Given the description of an element on the screen output the (x, y) to click on. 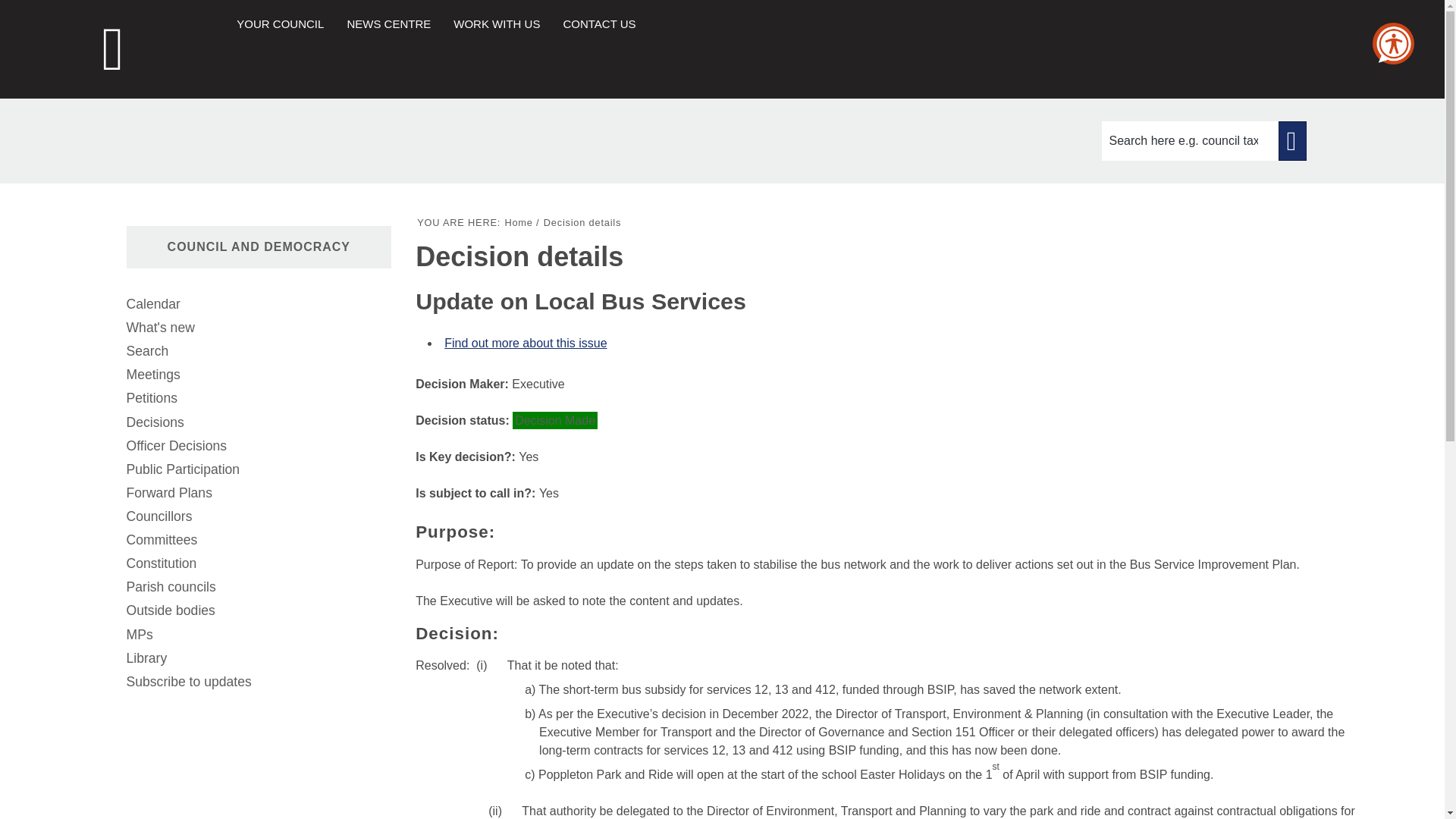
CONTACT US (598, 23)
Home (517, 222)
Subscribe to updates (258, 681)
Link to Forward Plans (258, 493)
Find out more about this issue (525, 342)
Meetings (258, 374)
Library (258, 658)
Outside bodies (258, 610)
Councillors (258, 516)
Link to officer decision log (258, 445)
Link to parish council details (258, 586)
Link to committee structure (258, 540)
Officer Decisions (258, 445)
Link to your councillors (258, 516)
Link to information about committee meetings (258, 374)
